Given the description of an element on the screen output the (x, y) to click on. 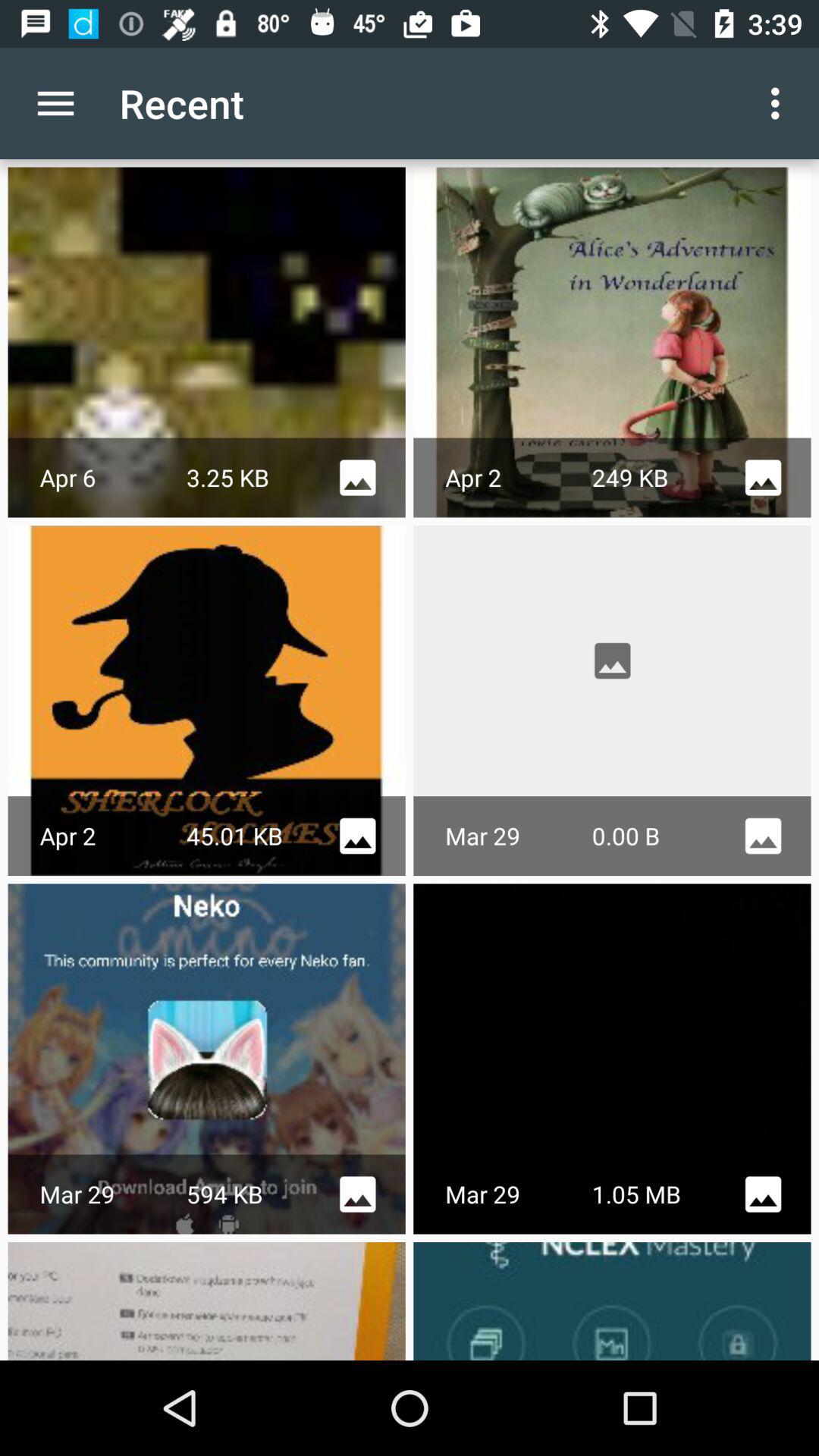
press item next to the recent item (779, 103)
